Given the description of an element on the screen output the (x, y) to click on. 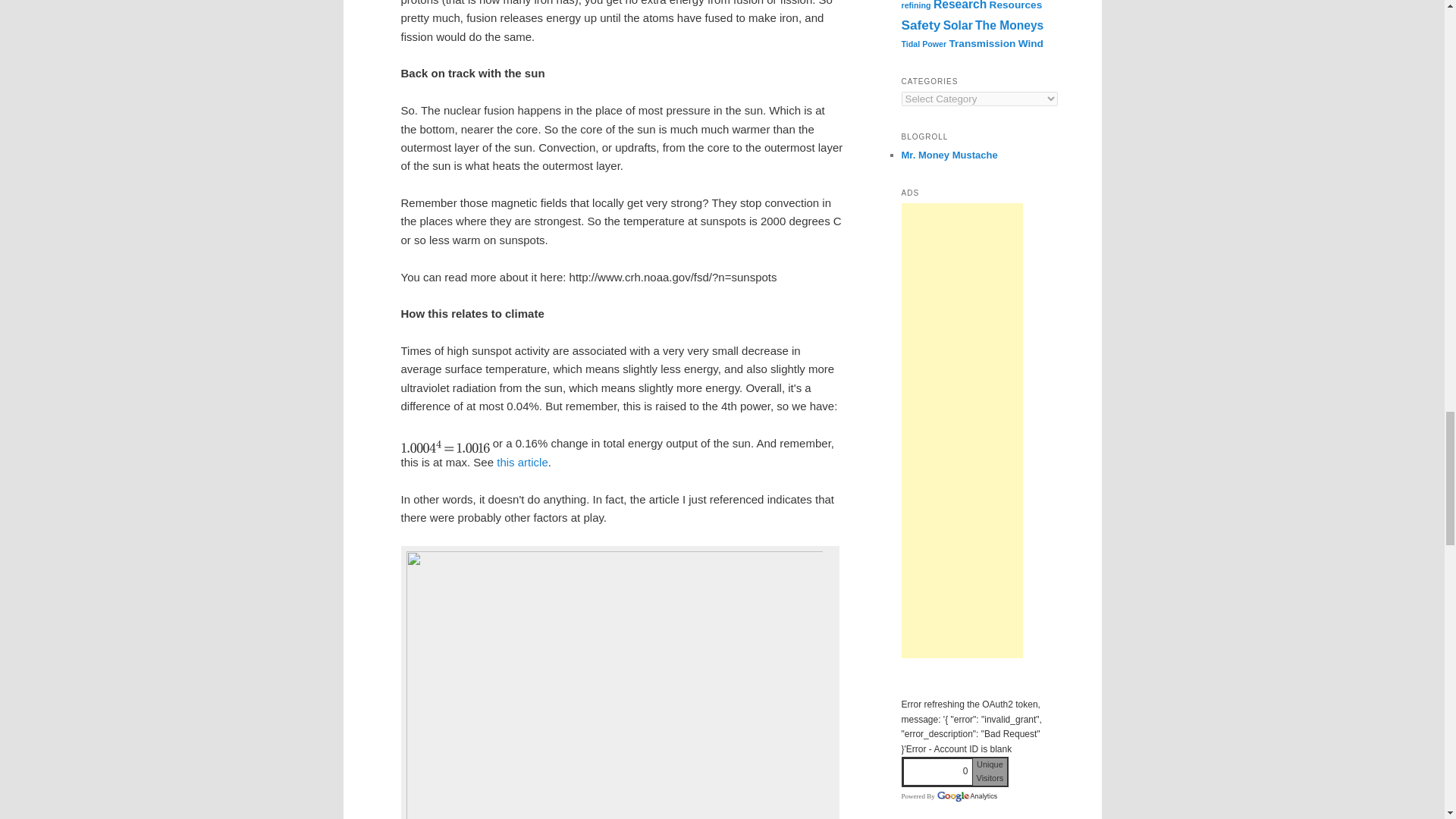
Google Analyticator for Wordpress (966, 796)
this article (522, 461)
